Given the description of an element on the screen output the (x, y) to click on. 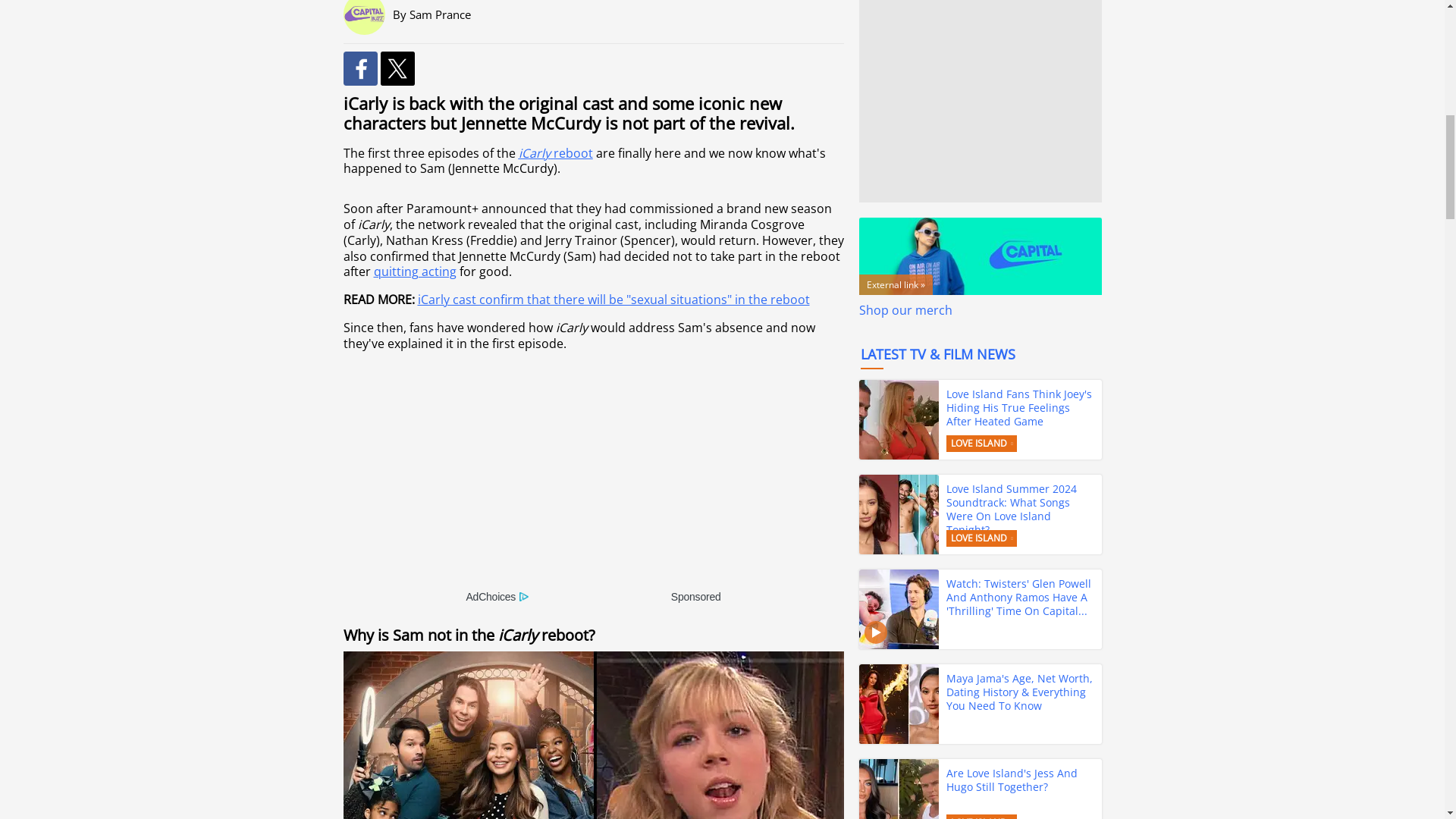
ad content (592, 481)
